Given the description of an element on the screen output the (x, y) to click on. 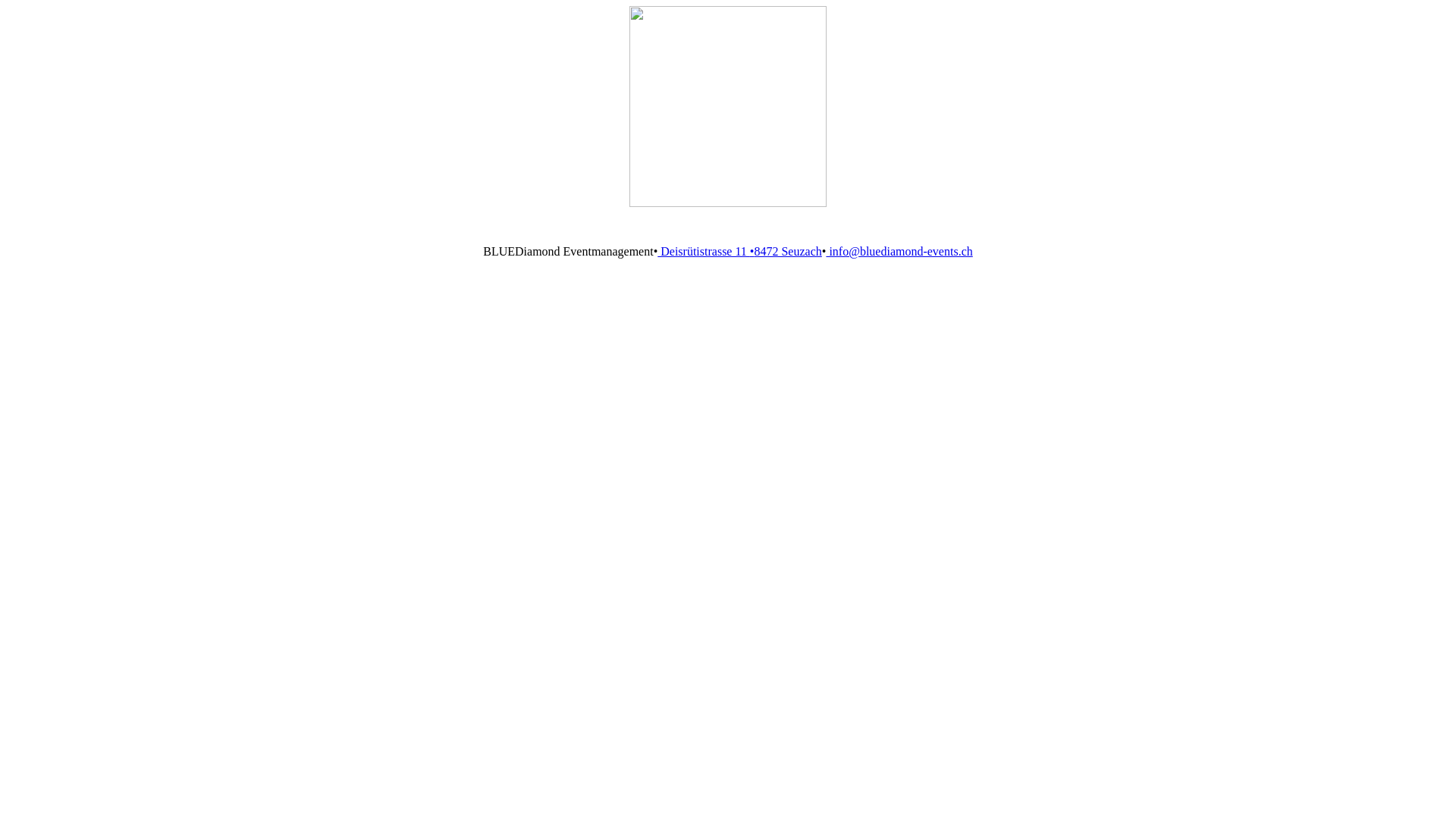
info@bluediamond-events.ch Element type: text (898, 250)
